Given the description of an element on the screen output the (x, y) to click on. 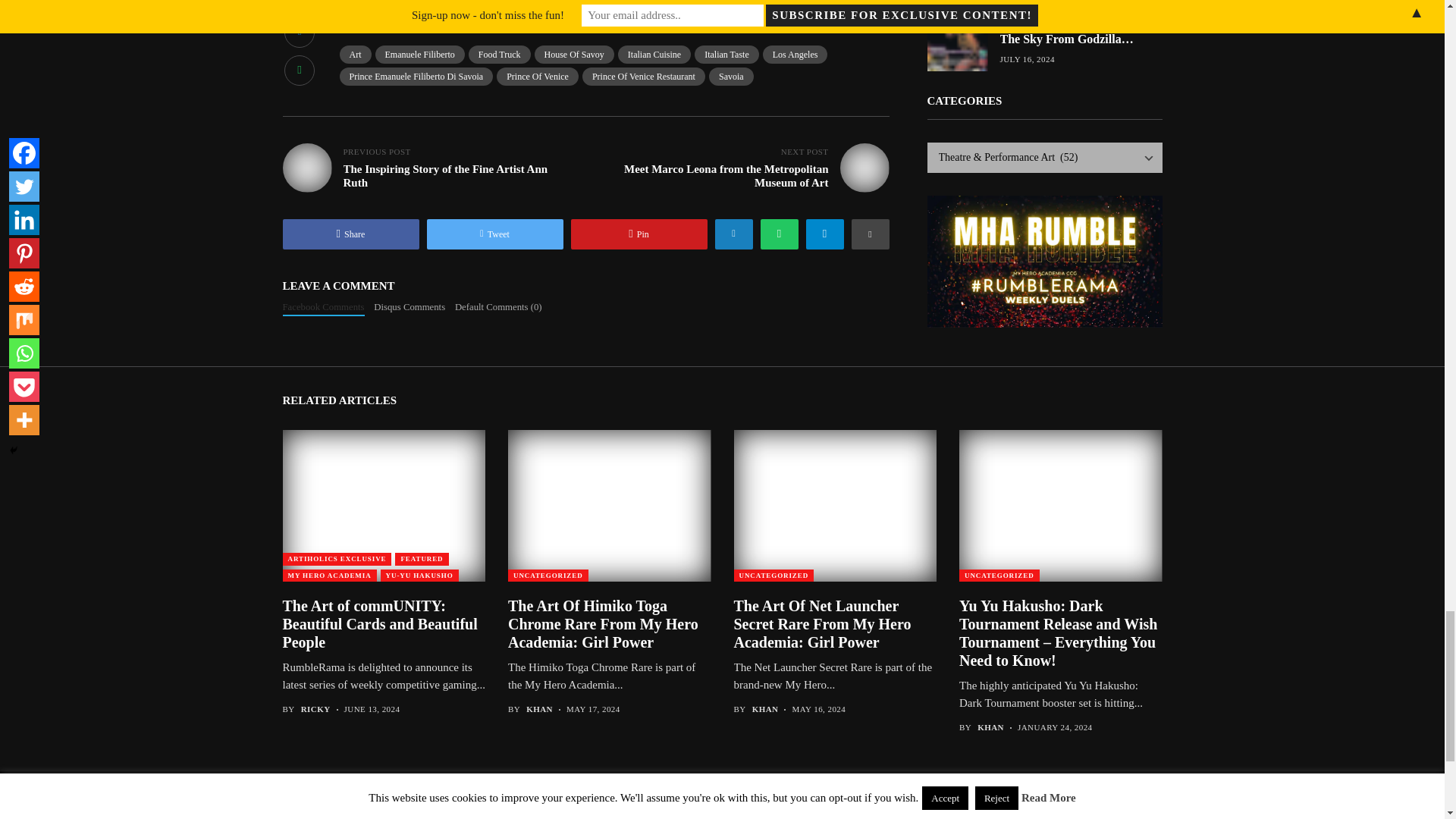
Posts by Ricky (315, 709)
Posts by Khan (539, 709)
